Given the description of an element on the screen output the (x, y) to click on. 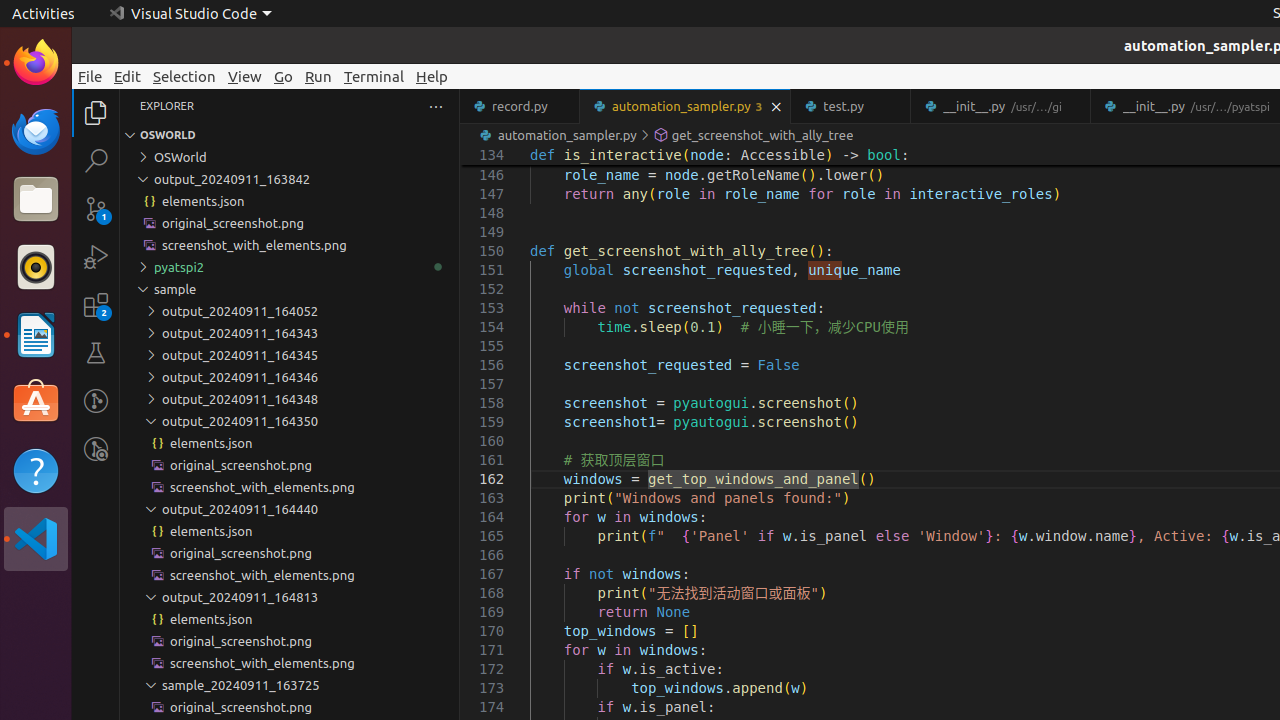
output_20240911_164350 Element type: tree-item (289, 421)
output_20240911_164348 Element type: tree-item (289, 399)
sample_20240911_163725 Element type: tree-item (289, 685)
View Element type: push-button (245, 76)
